Given the description of an element on the screen output the (x, y) to click on. 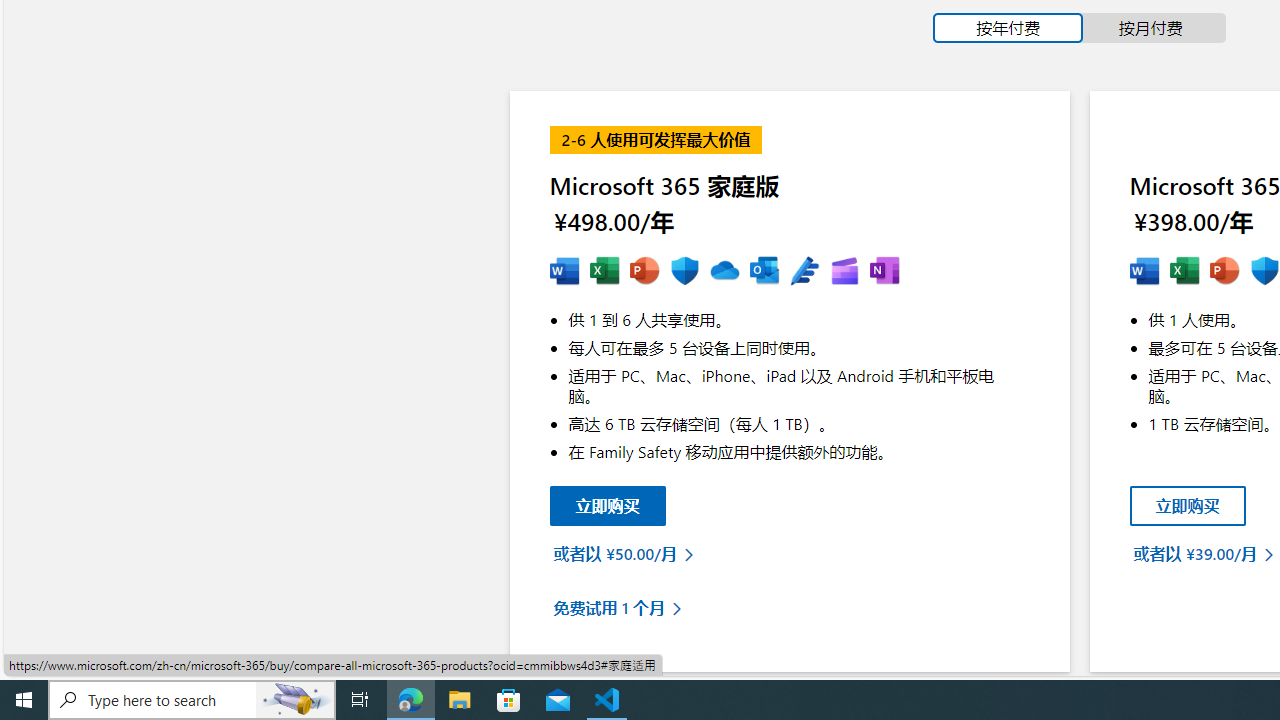
MS PowerPoint (1224, 271)
MS Editor (804, 271)
MS Outlook (763, 271)
MS Word (1143, 271)
MS OneDrive (724, 271)
MS OneNote (884, 271)
MS Clipchamp (844, 271)
